Given the description of an element on the screen output the (x, y) to click on. 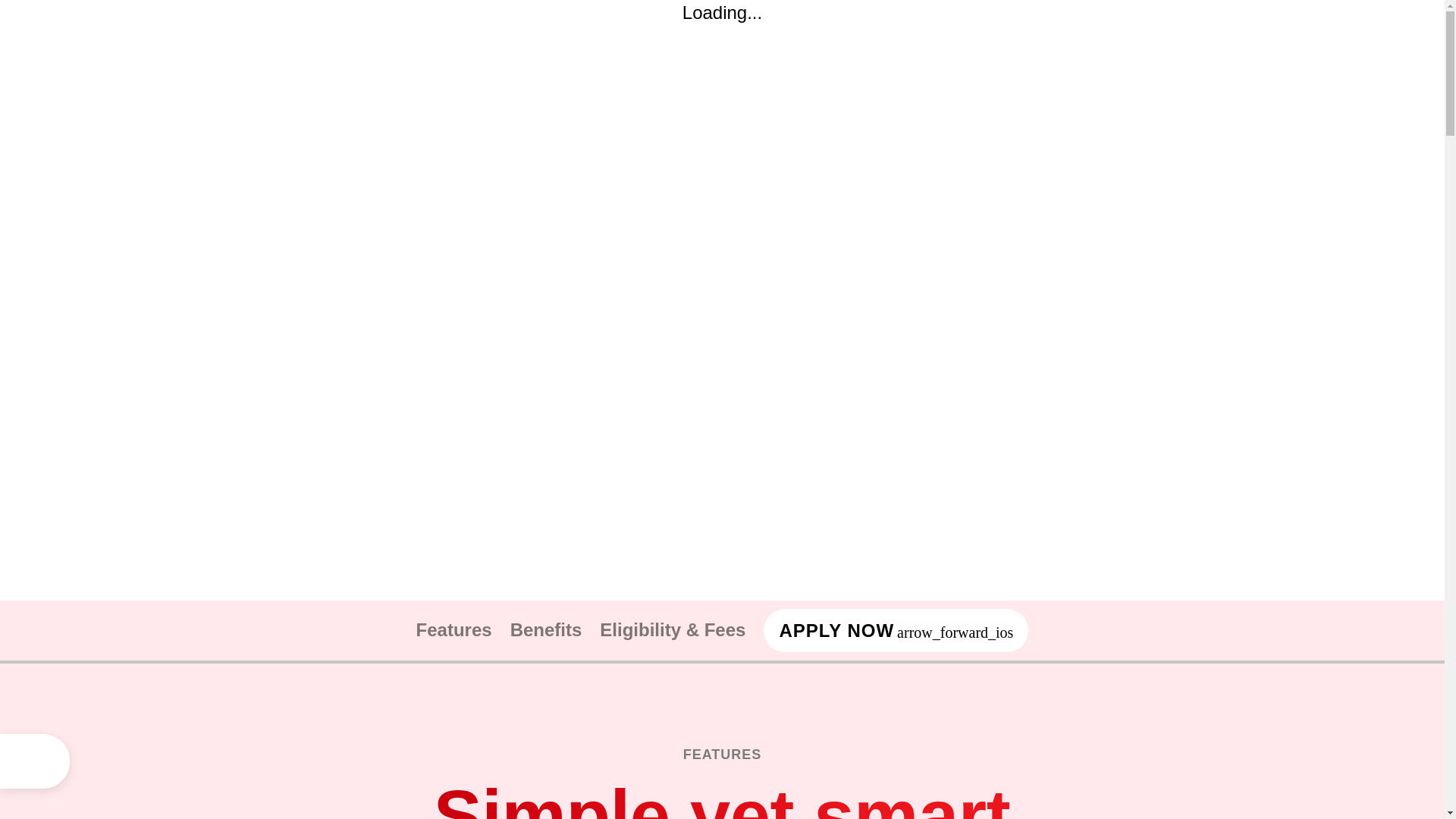
Benefits (546, 630)
Features (454, 630)
Features (454, 630)
Benefits (546, 630)
